Given the description of an element on the screen output the (x, y) to click on. 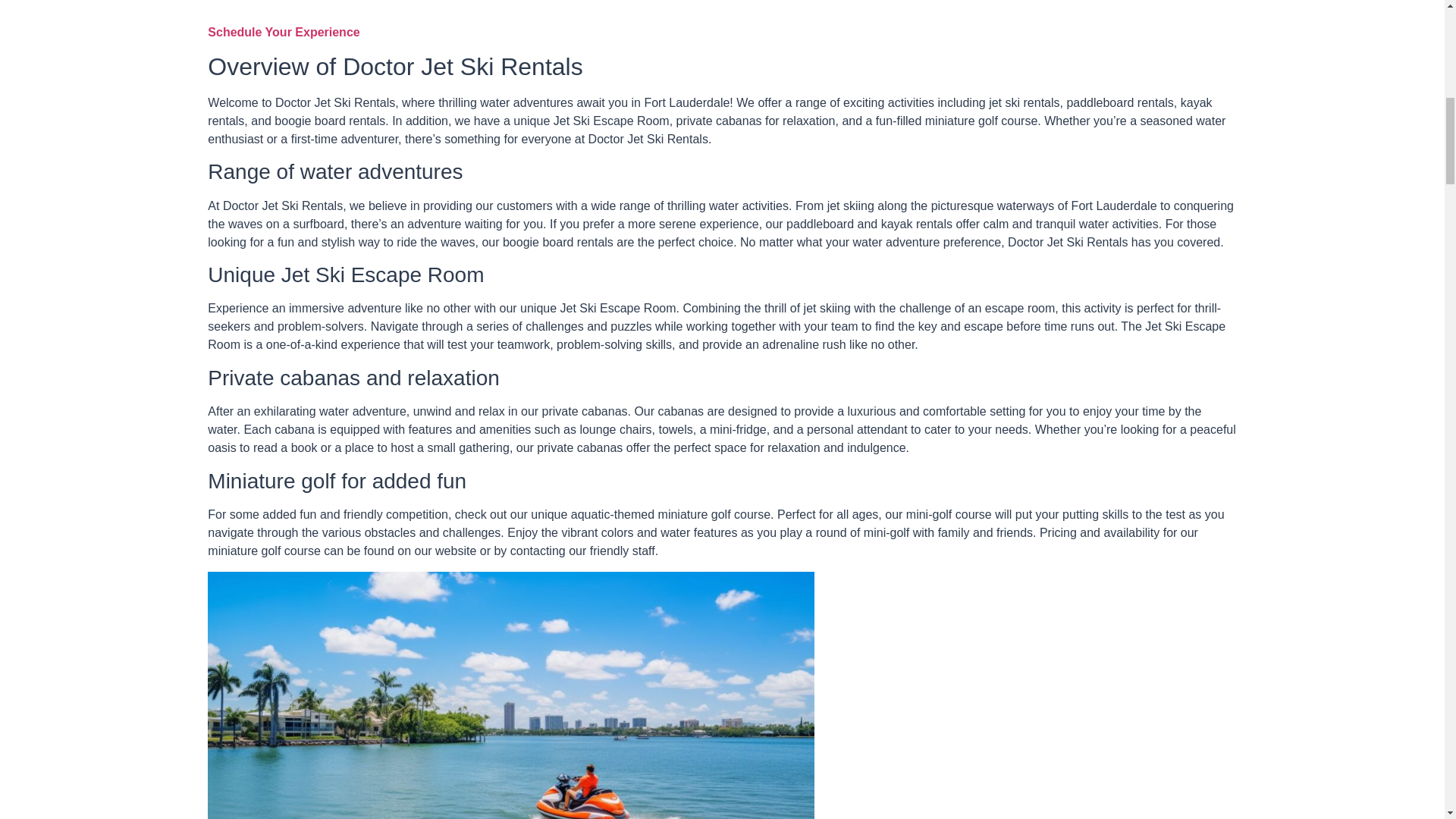
Click to view the Schedule Your Experience. (283, 31)
Schedule Your Experience (283, 31)
FareHarbor (1342, 64)
